Given the description of an element on the screen output the (x, y) to click on. 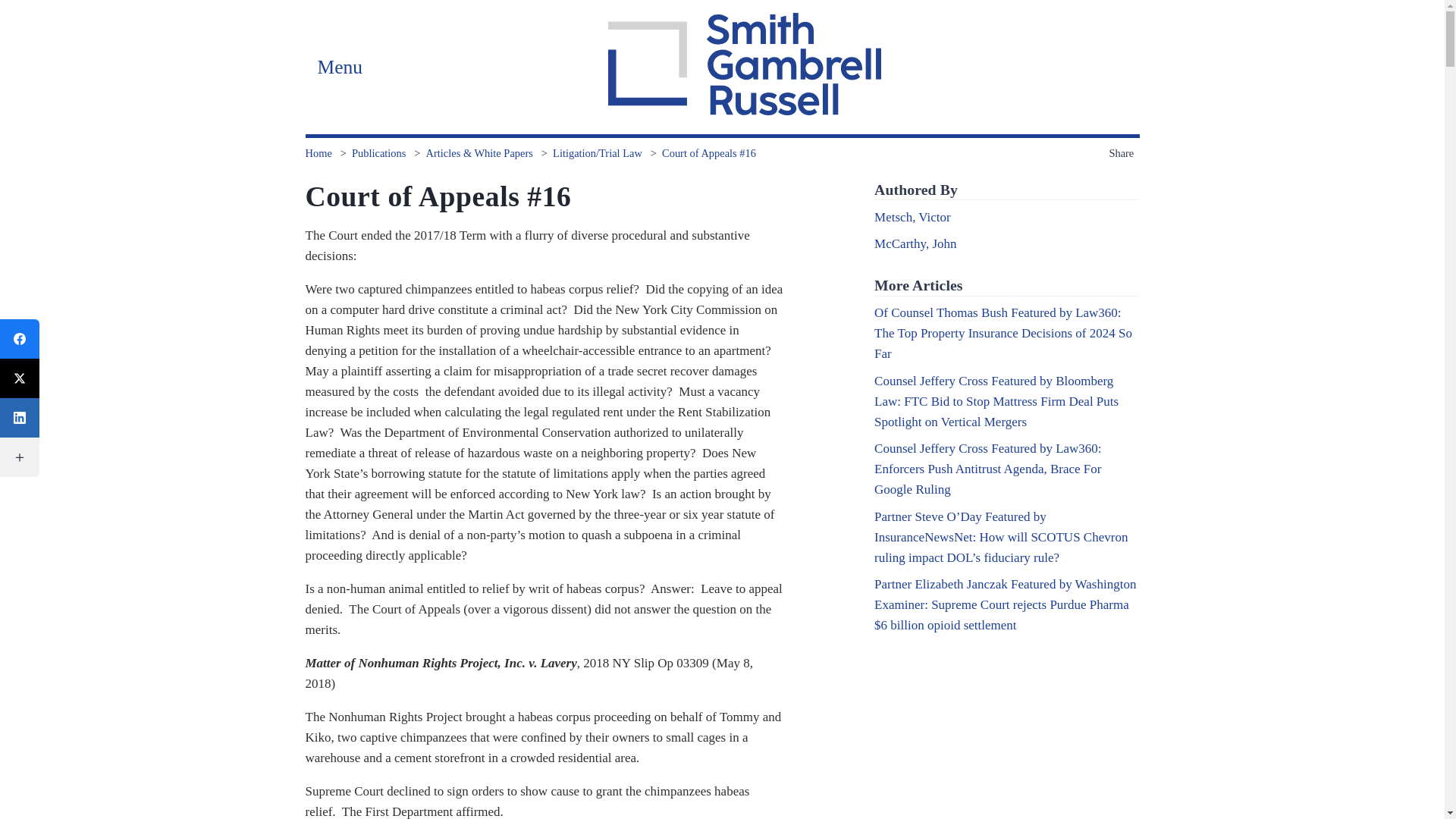
McCarthy, John (915, 243)
Menu (339, 67)
Publications (379, 152)
Share (1123, 153)
Metsch, Victor (912, 216)
Home (317, 152)
